Given the description of an element on the screen output the (x, y) to click on. 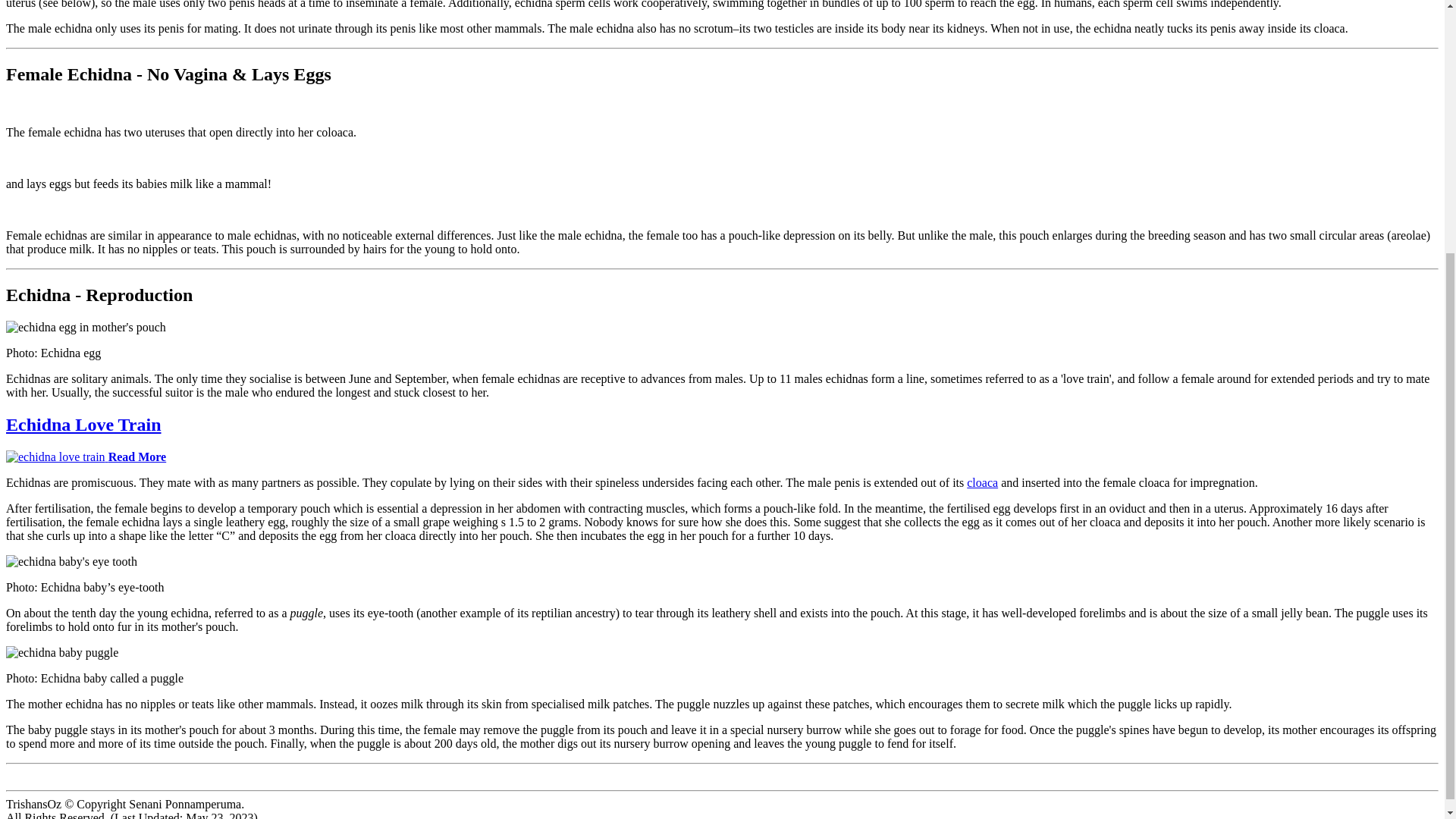
cloaca (981, 481)
